Given the description of an element on the screen output the (x, y) to click on. 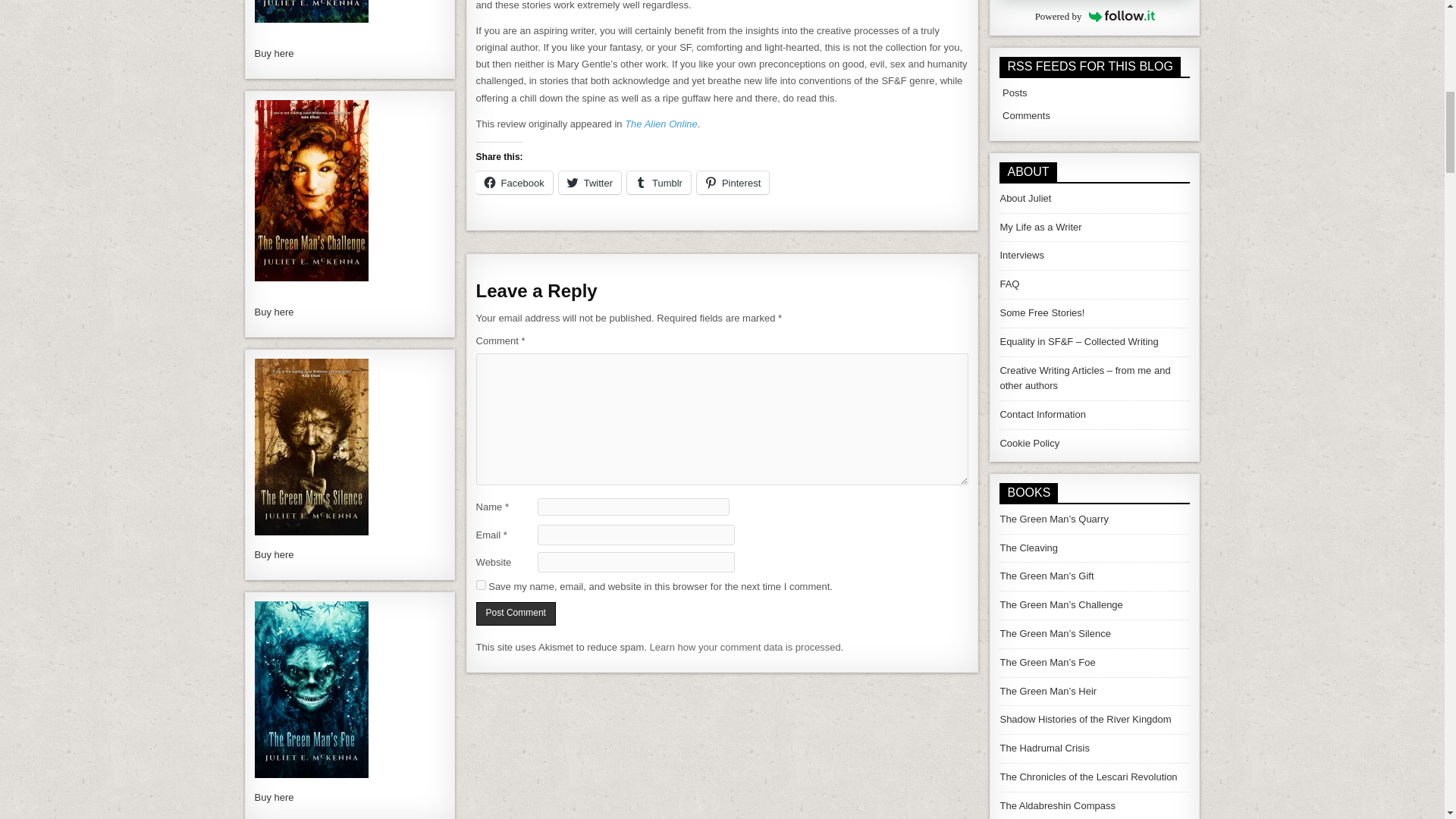
yes (481, 584)
Click to share on Pinterest (732, 182)
Click to share on Tumblr (658, 182)
Click to share on Facebook (514, 182)
Post Comment (516, 613)
Click to share on Twitter (590, 182)
